Given the description of an element on the screen output the (x, y) to click on. 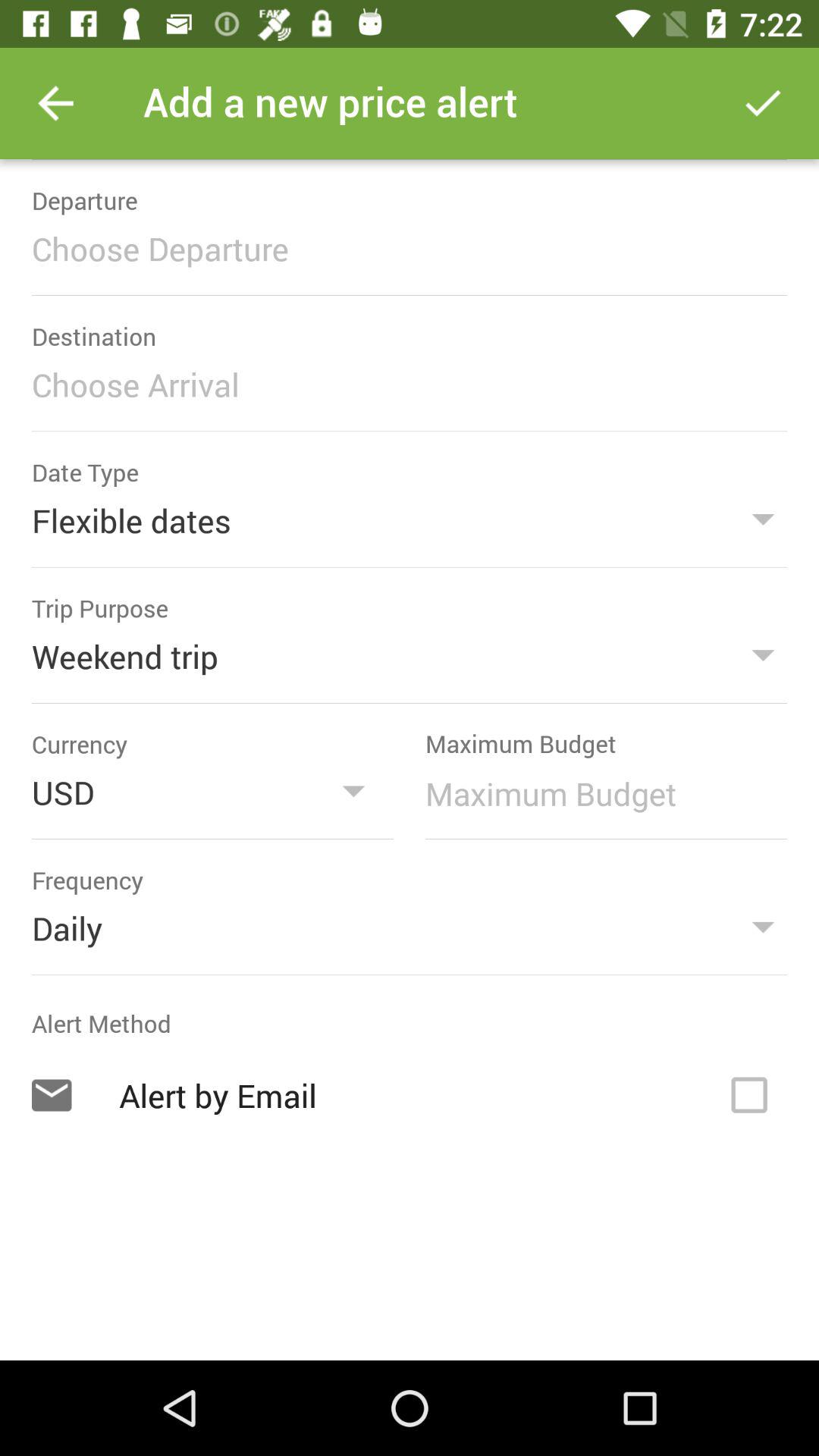
save price alert (763, 103)
